Given the description of an element on the screen output the (x, y) to click on. 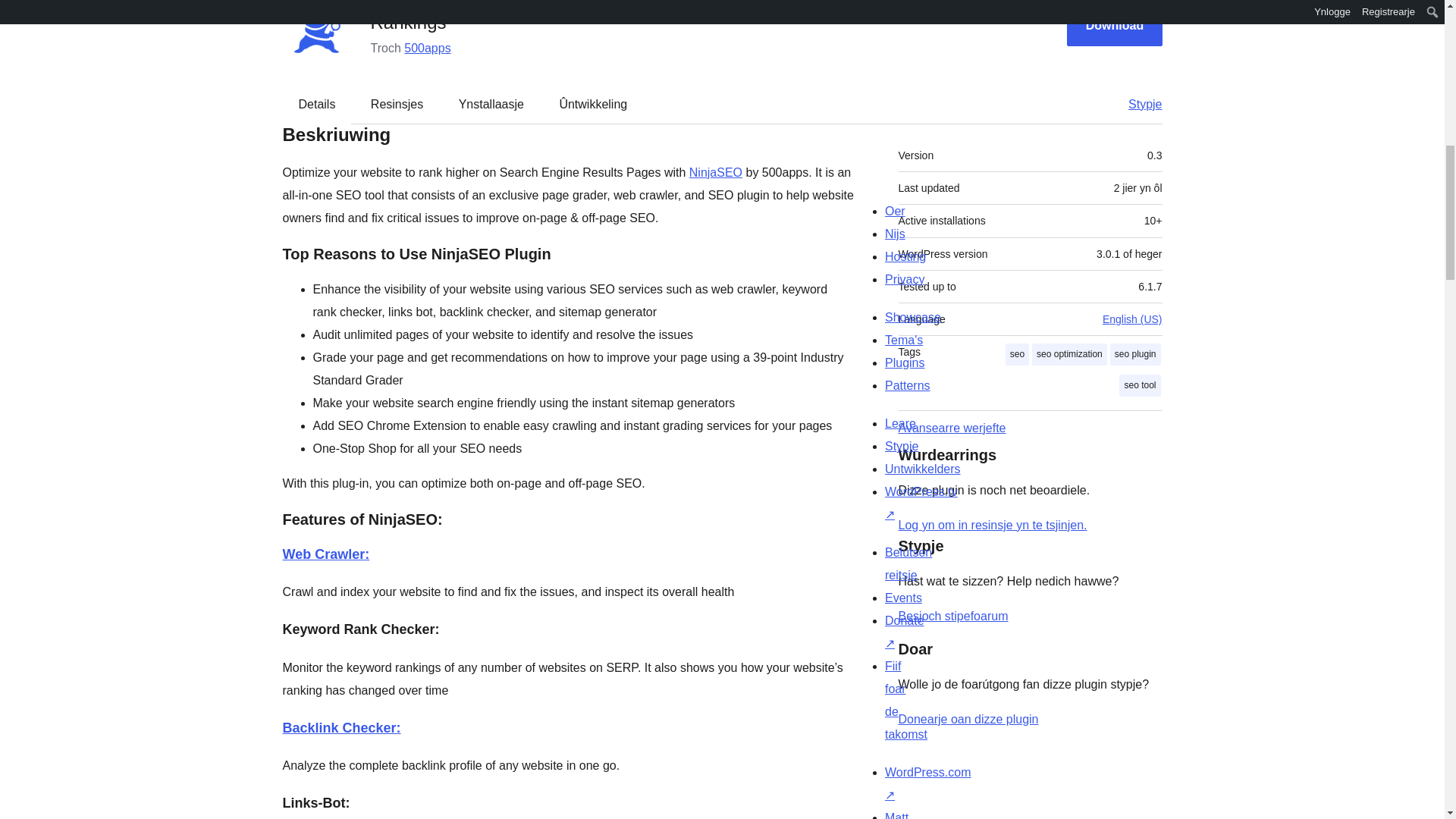
Oanmelde by WordPress.org (992, 524)
500apps (426, 47)
Web Crawler: (325, 554)
Download (1114, 24)
Backlink Checker: (341, 727)
Details (316, 103)
Resinsjes (396, 103)
Ynstallaasje (491, 103)
NinjaSEO (715, 172)
Stypje (1137, 103)
